Given the description of an element on the screen output the (x, y) to click on. 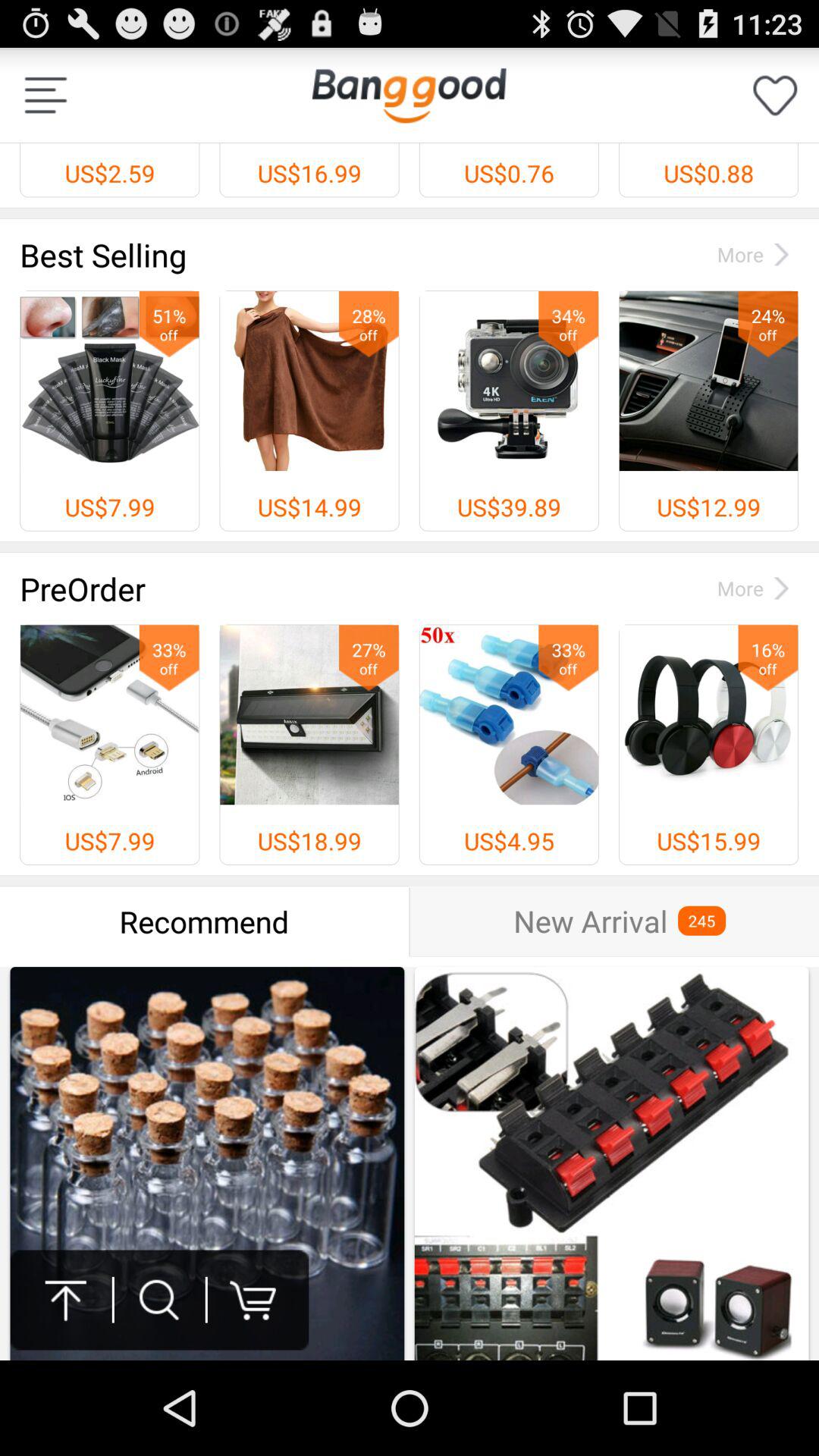
turn on recommend item (204, 921)
